Given the description of an element on the screen output the (x, y) to click on. 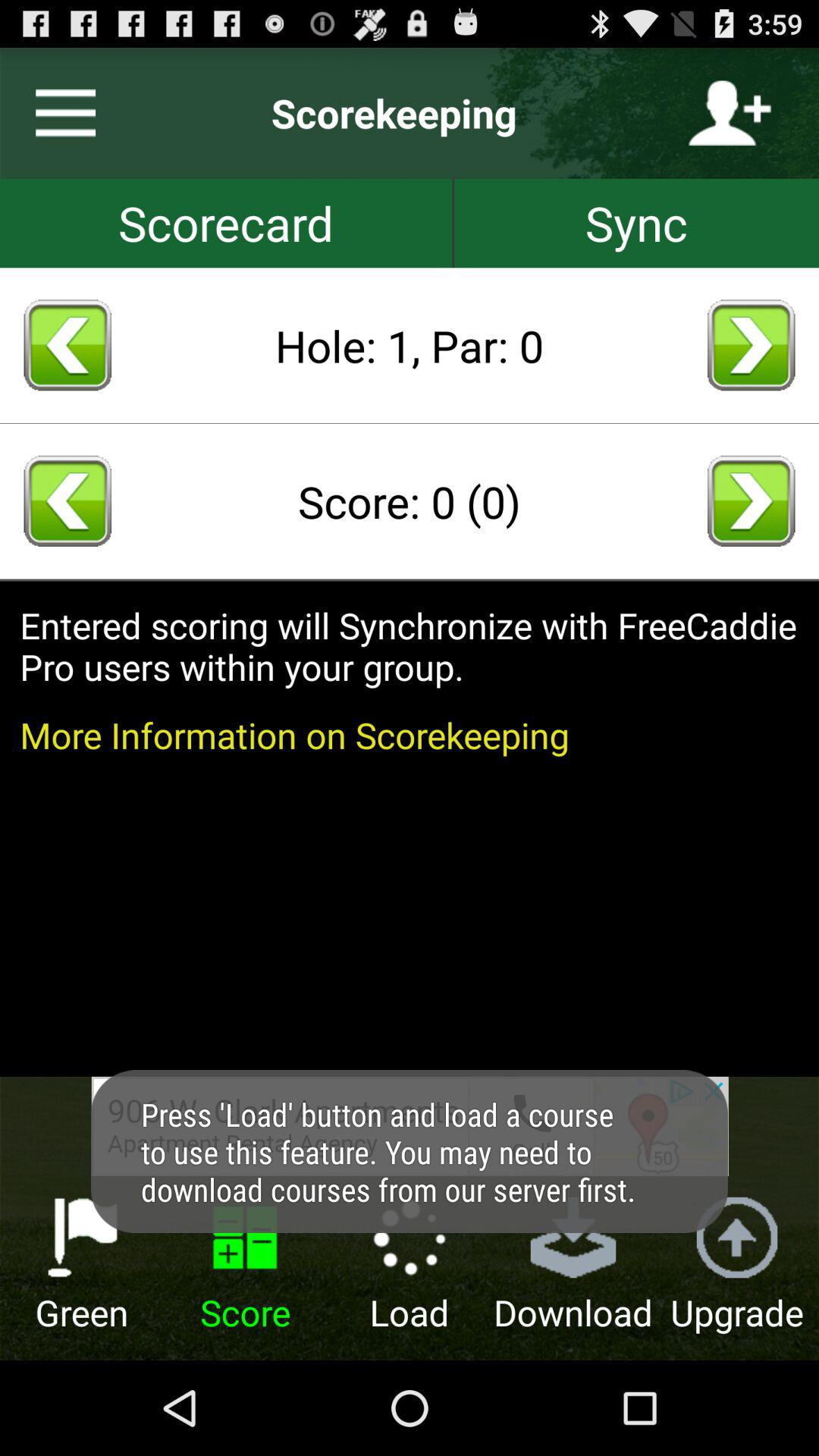
go to menu (59, 112)
